Given the description of an element on the screen output the (x, y) to click on. 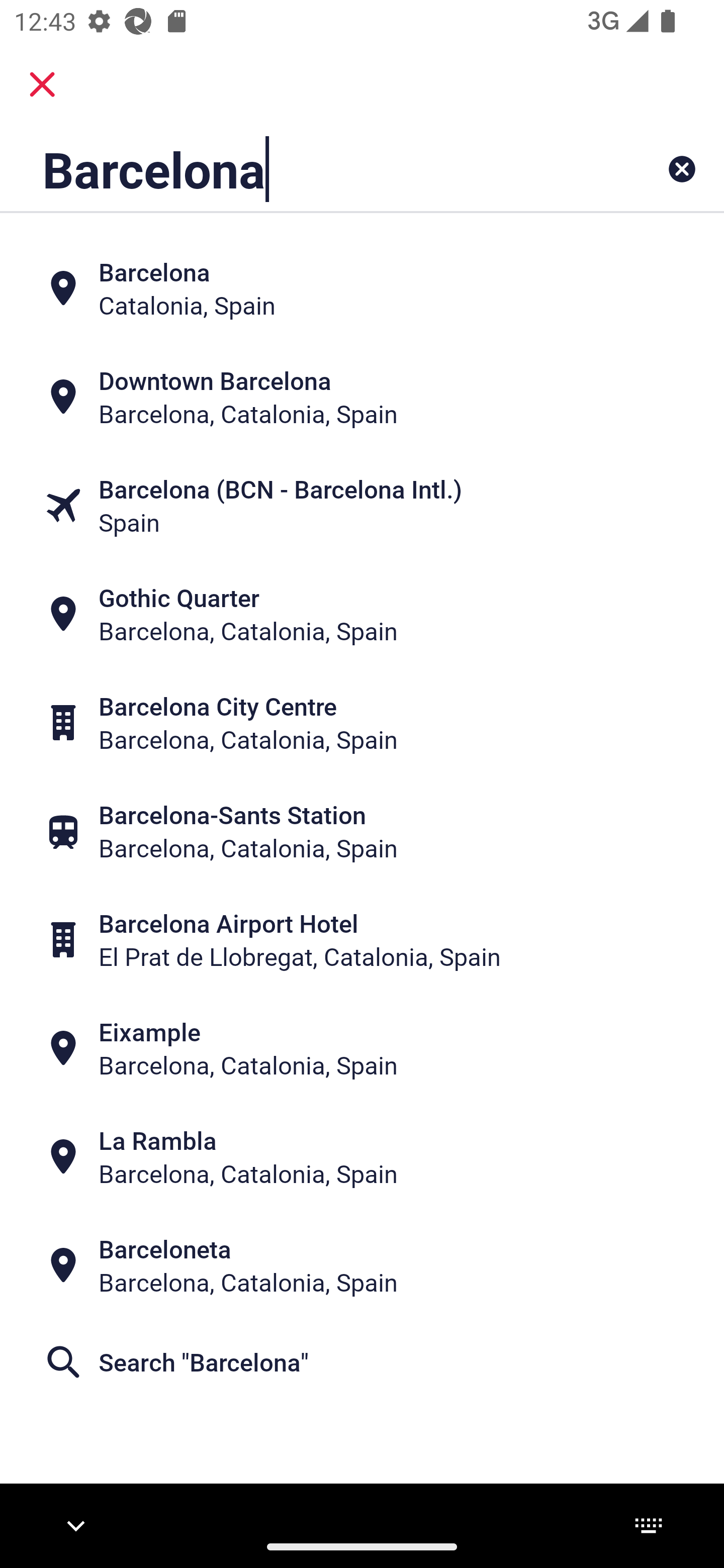
close. (42, 84)
Clear (681, 169)
Barcelona (298, 169)
Barcelona Catalonia, Spain (362, 288)
Downtown Barcelona Barcelona, Catalonia, Spain (362, 397)
Barcelona (BCN - Barcelona Intl.) Spain (362, 505)
Gothic Quarter Barcelona, Catalonia, Spain (362, 613)
Barcelona City Centre Barcelona, Catalonia, Spain (362, 722)
Eixample Barcelona, Catalonia, Spain (362, 1048)
La Rambla Barcelona, Catalonia, Spain (362, 1156)
Barceloneta Barcelona, Catalonia, Spain (362, 1265)
Search "Barcelona" (362, 1362)
